Given the description of an element on the screen output the (x, y) to click on. 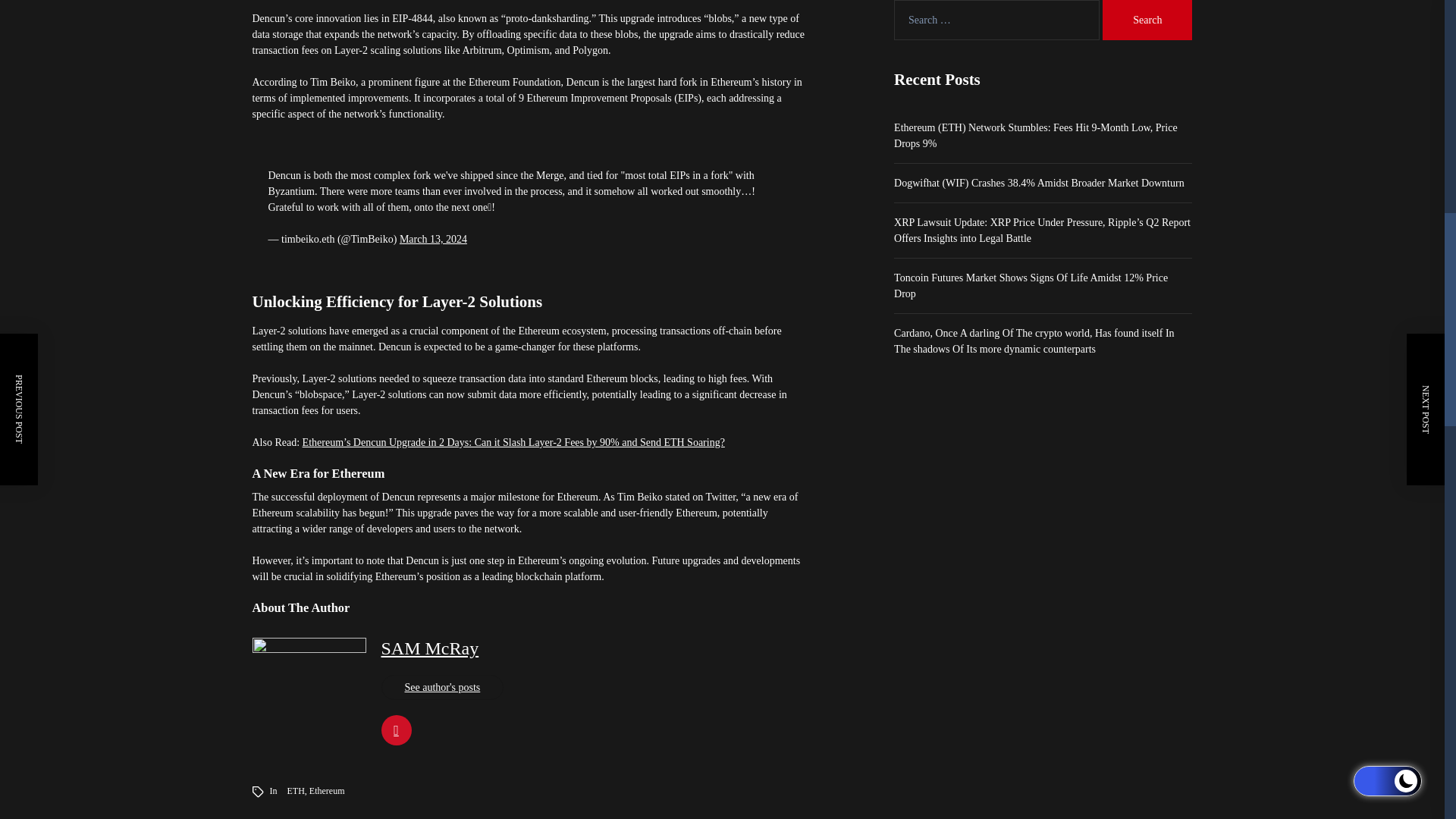
SAM McRay (429, 648)
See author's posts (441, 687)
March 13, 2024 (432, 238)
